Given the description of an element on the screen output the (x, y) to click on. 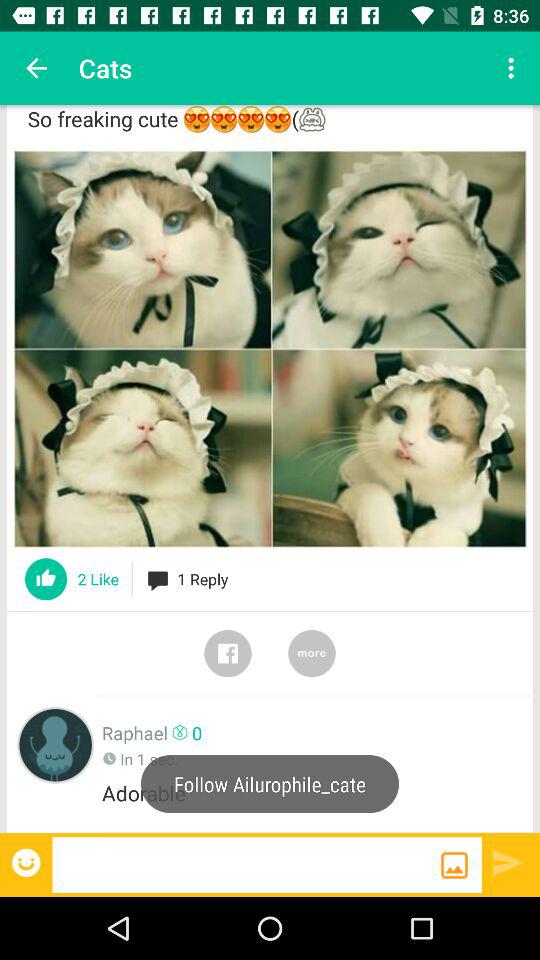
press the item next to cats app (36, 68)
